Given the description of an element on the screen output the (x, y) to click on. 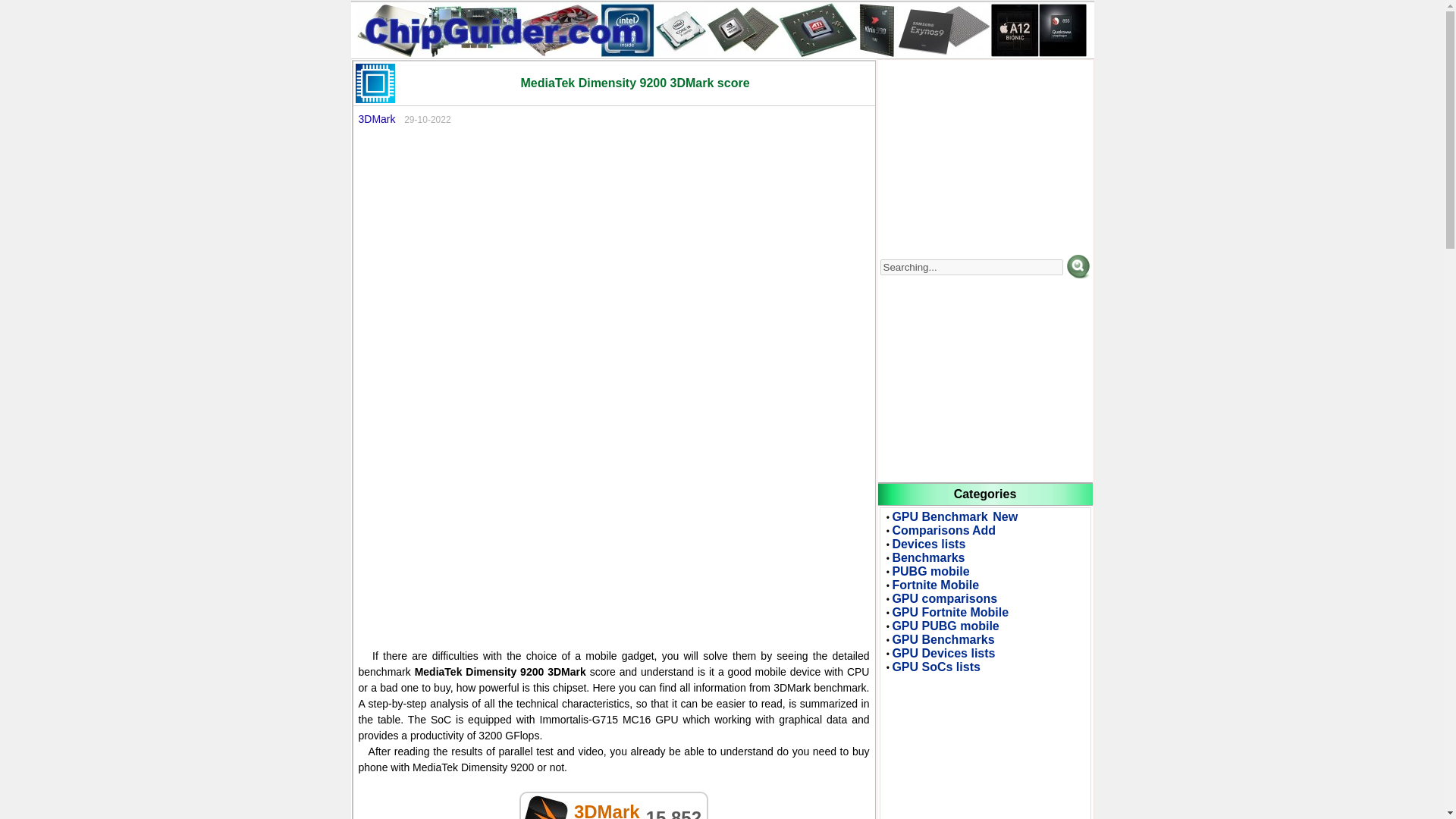
Searching... (970, 267)
Dimensity 9200 3DMark benchmark score points (374, 83)
Dimensity 9200 3DMark (544, 807)
3DMark (376, 119)
Advertisement (613, 259)
Advertisement (613, 517)
